Given the description of an element on the screen output the (x, y) to click on. 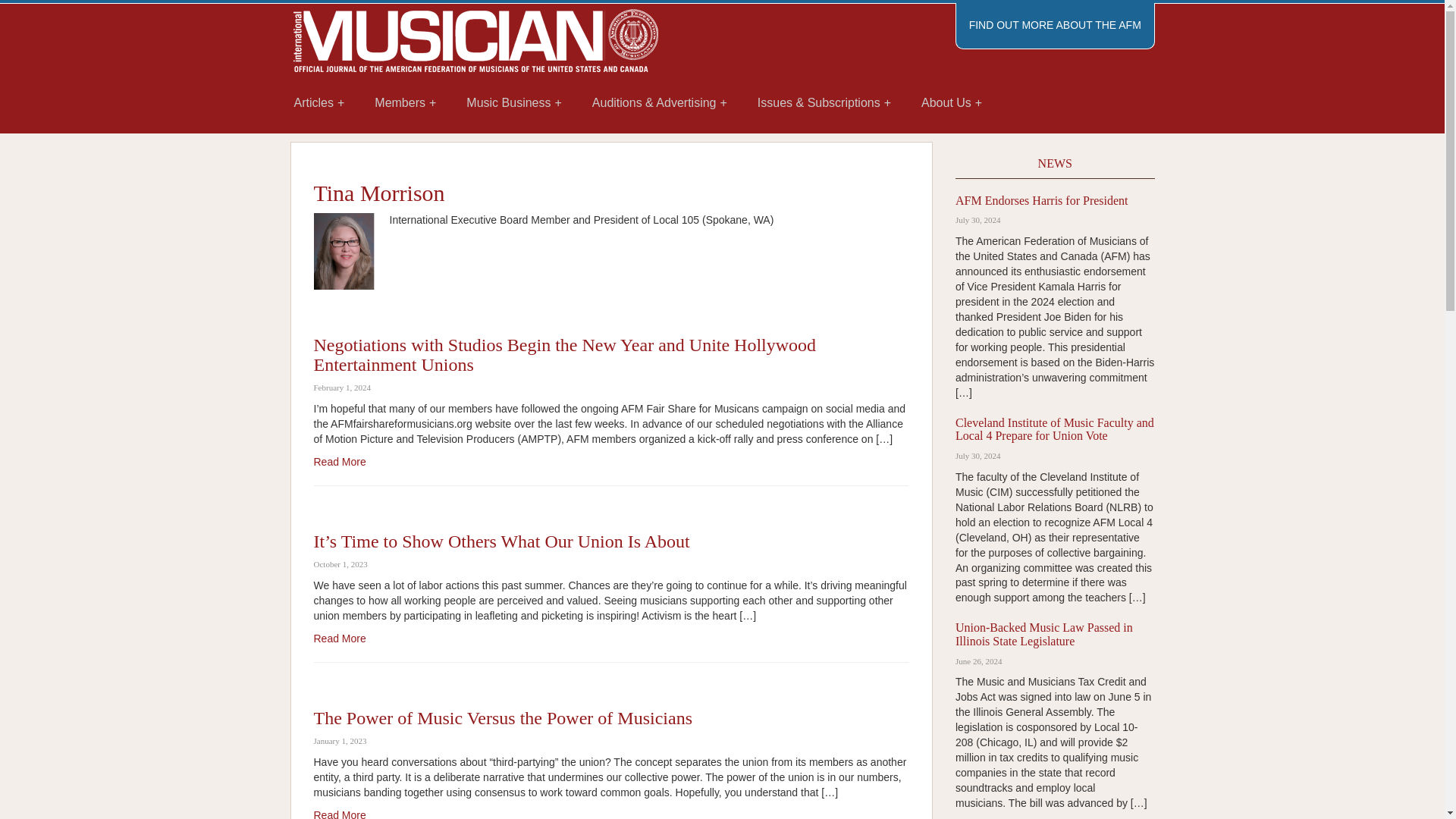
Music Business (513, 102)
Articles (319, 102)
About Us (951, 102)
Members (405, 102)
